Given the description of an element on the screen output the (x, y) to click on. 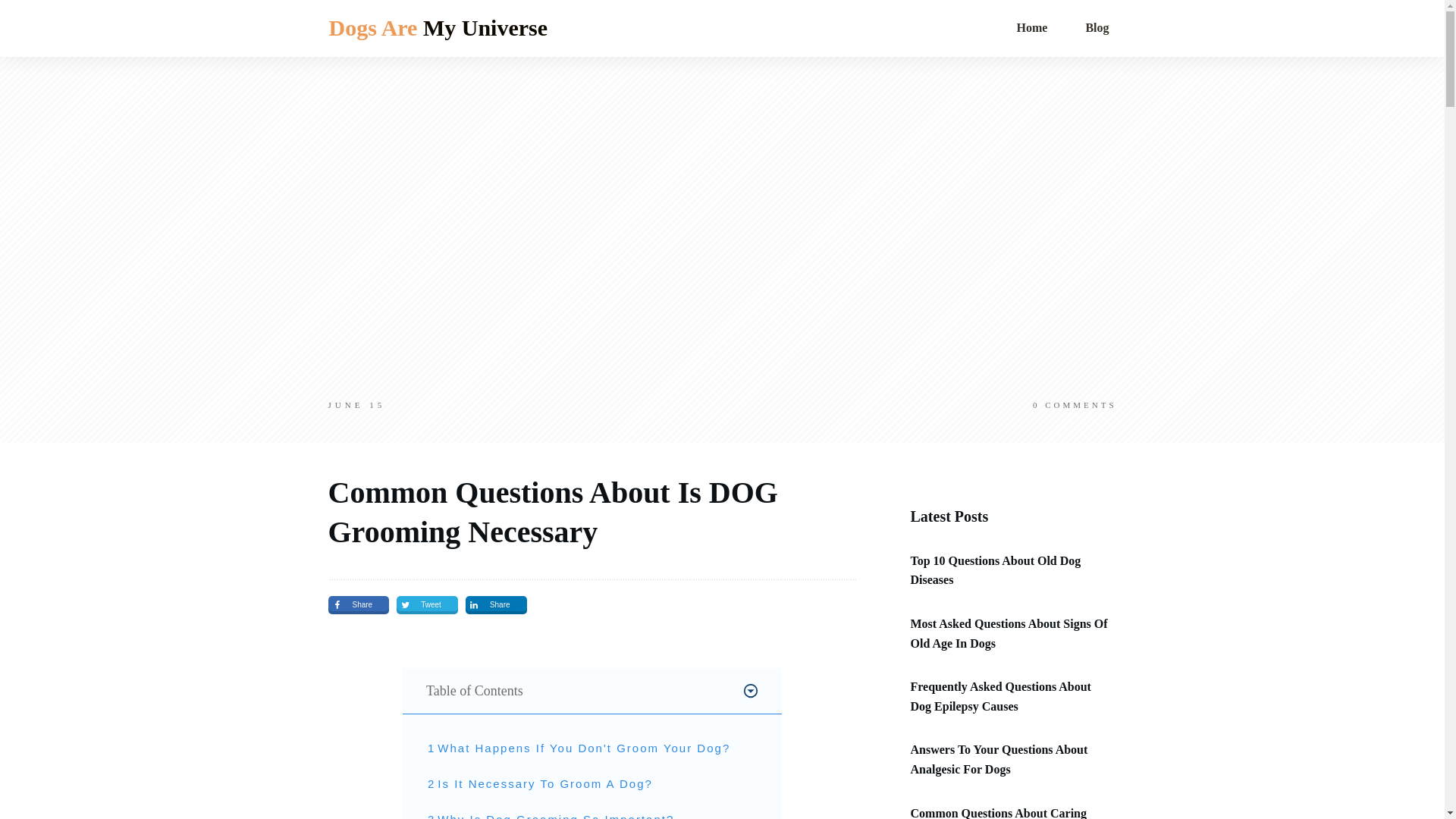
Is It Necessary To Groom A Dog? (545, 783)
Why Is Dog Grooming So Important? (556, 814)
Most Asked Questions About Signs Of Old Age In Dogs (1008, 633)
Top 10 Questions About Old Dog Diseases (995, 570)
Blog (1096, 27)
Frequently Asked Questions About Dog Epilepsy Causes (1000, 696)
Share (357, 605)
Home (1031, 27)
Is It Necessary To Groom A Dog? (545, 783)
